Given the description of an element on the screen output the (x, y) to click on. 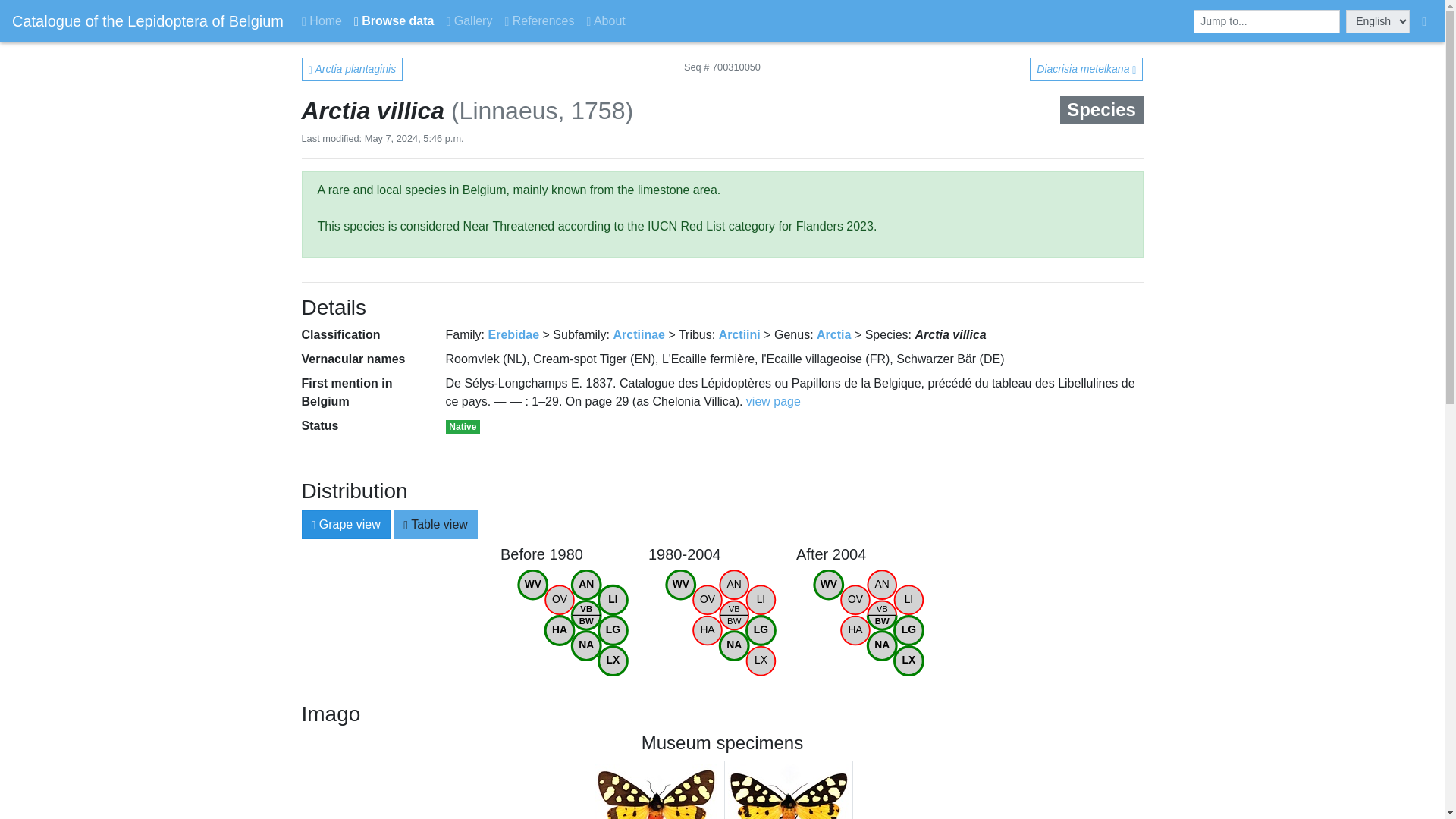
Arctia plantaginis (352, 69)
Arctia (833, 334)
Arctiini (739, 334)
References (538, 20)
Arctiinae (573, 622)
Gallery (637, 334)
table (468, 20)
grape (408, 520)
Diacrisia metelkana (721, 622)
admin interface (315, 520)
view page (1085, 69)
Catalogue of the Lepidoptera of Belgium (1424, 21)
Browse data (772, 400)
